Given the description of an element on the screen output the (x, y) to click on. 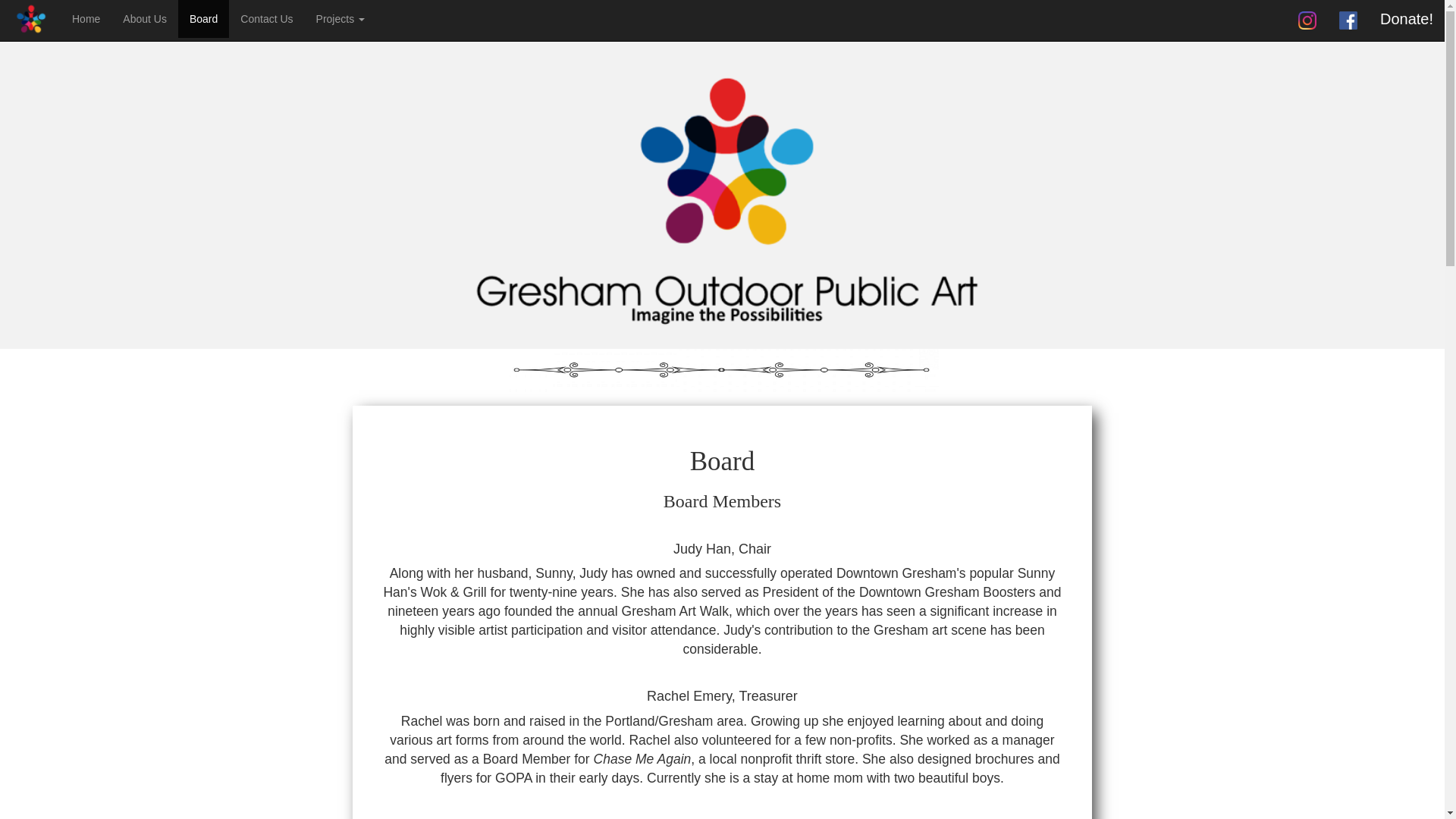
Home (86, 18)
About Us (144, 18)
Projects (339, 18)
Contact Us (266, 18)
Board (202, 18)
